Given the description of an element on the screen output the (x, y) to click on. 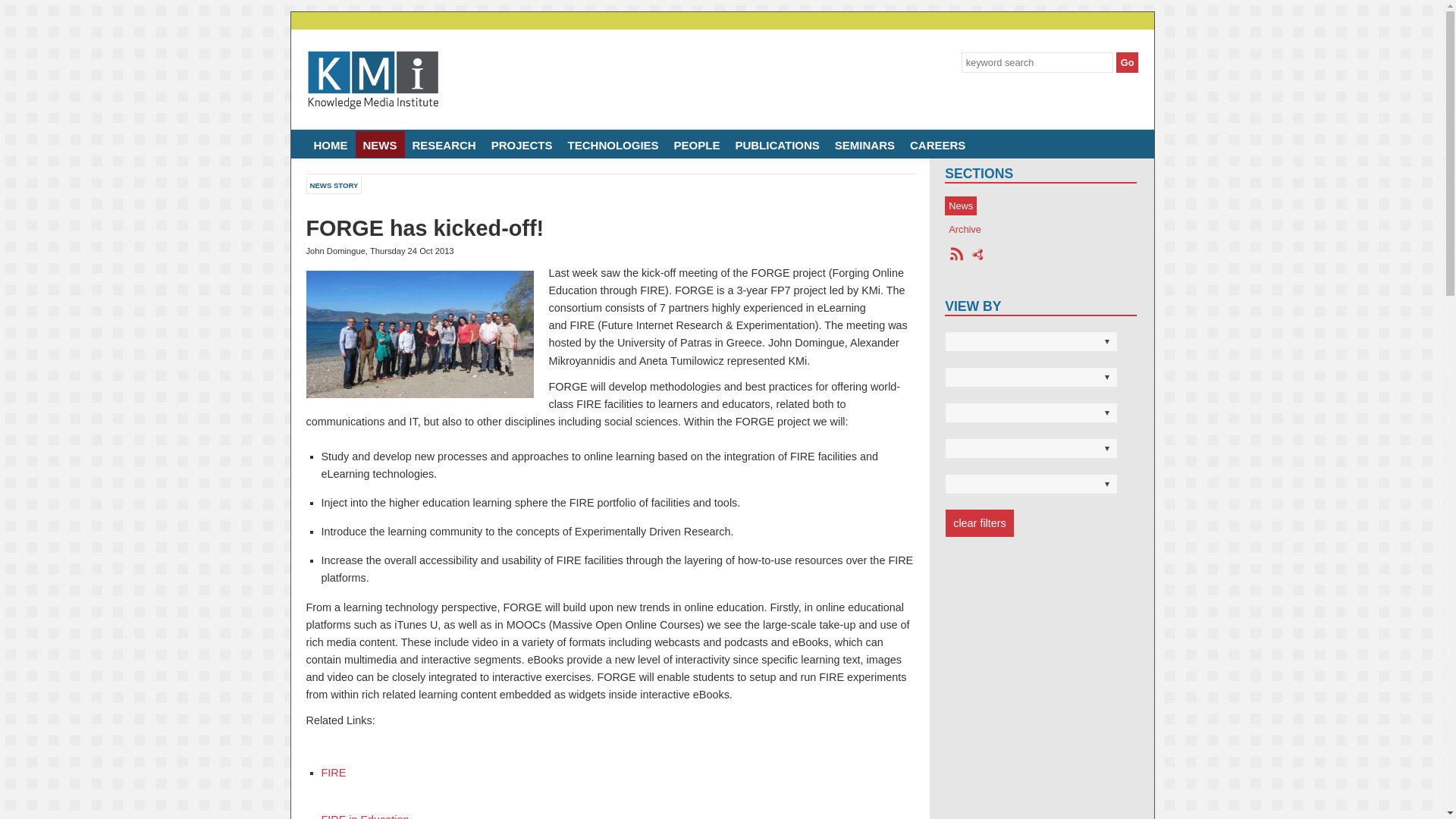
Research (443, 144)
FIRE (333, 772)
Projects (521, 144)
KMi website search (938, 62)
Home (330, 144)
RESEARCH (443, 144)
TECHNOLOGIES (613, 144)
Enter the terms you wish to seach for (1036, 62)
clear filters (978, 523)
People (697, 144)
Go (1127, 62)
PUBLICATIONS (776, 144)
CAREERS (937, 144)
Click to begin search (1127, 62)
PEOPLE (697, 144)
